Given the description of an element on the screen output the (x, y) to click on. 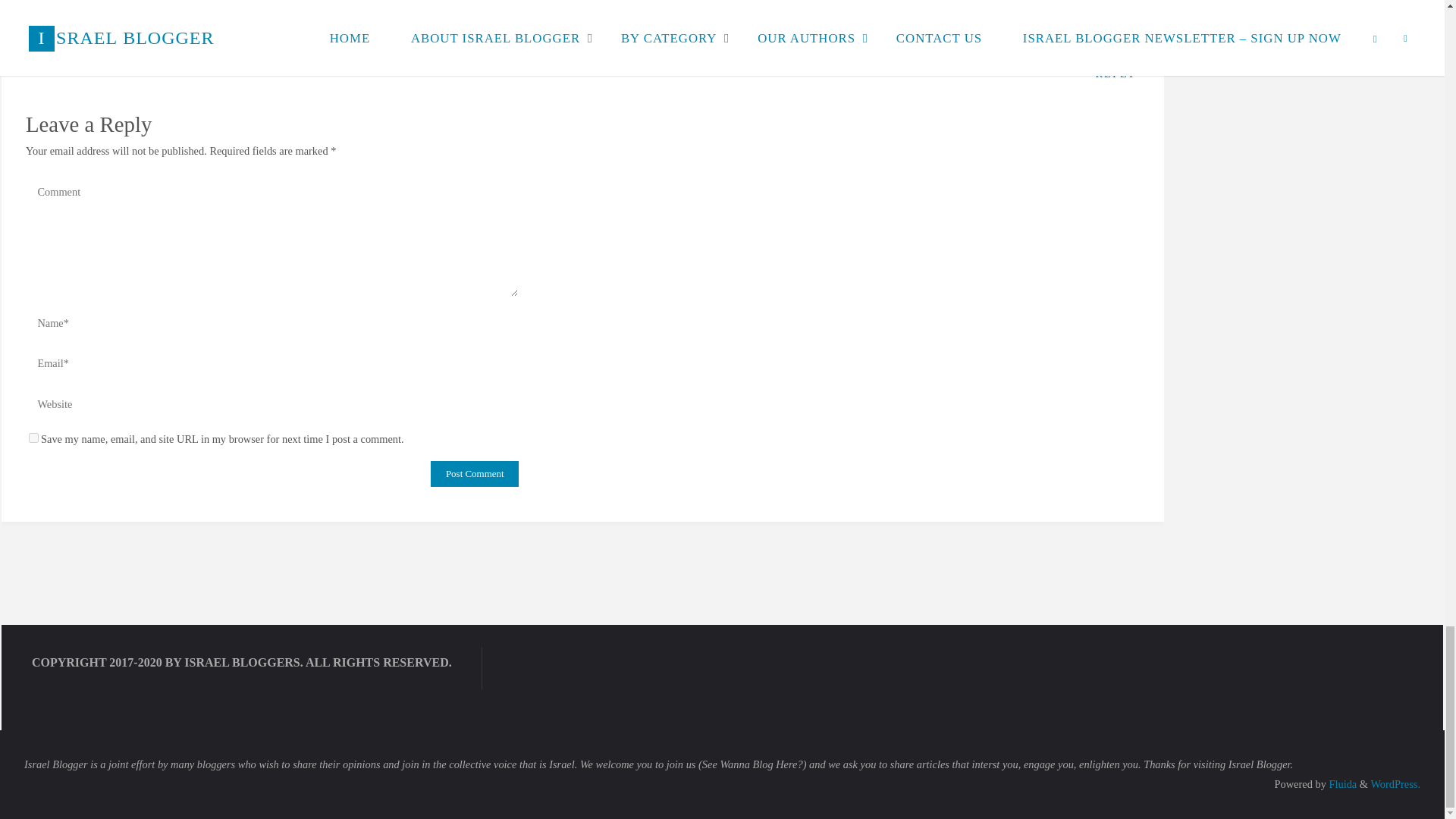
Fluida WordPress Theme by Cryout Creations (1341, 784)
Post Comment (474, 473)
Semantic Personal Publishing Platform (1395, 784)
yes (34, 438)
